Given the description of an element on the screen output the (x, y) to click on. 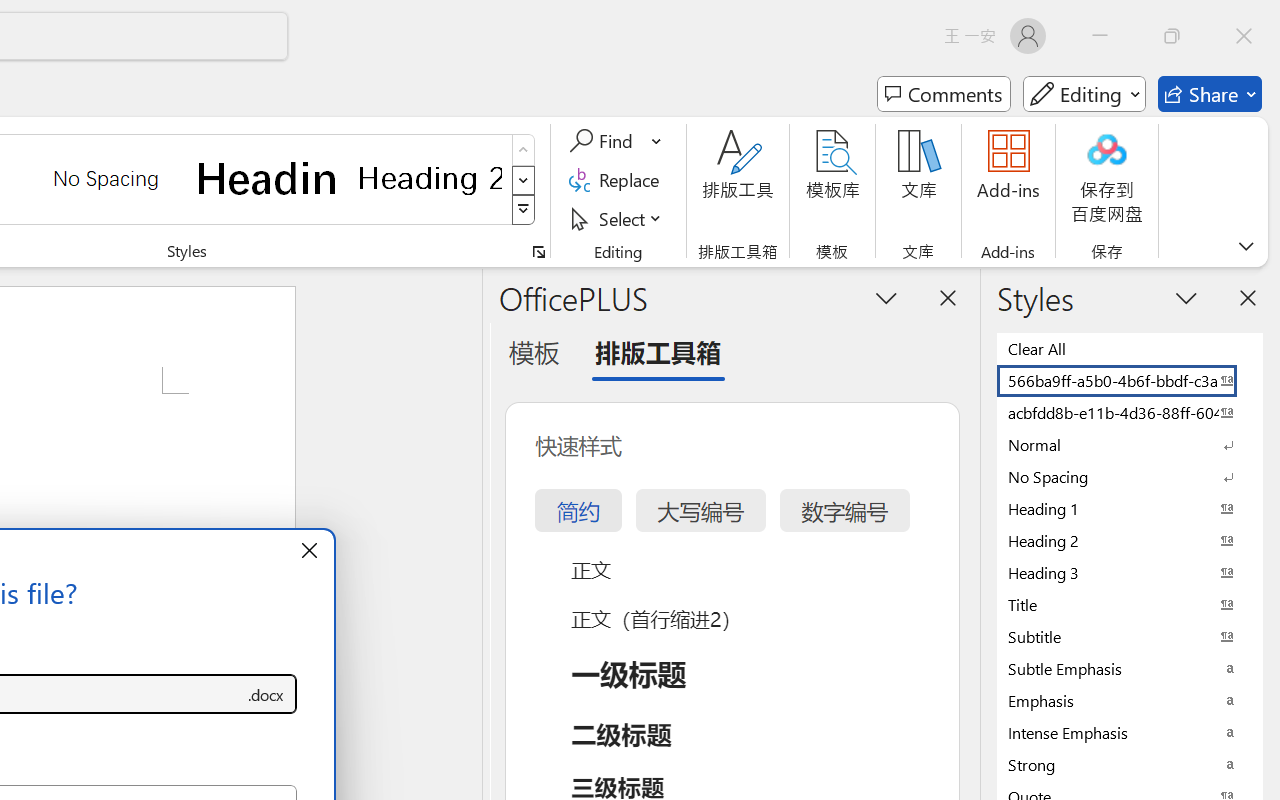
Mode (1083, 94)
Row Down (523, 180)
More Options (657, 141)
Styles... (538, 252)
Class: NetUIImage (523, 210)
Heading 3 (1130, 572)
